Given the description of an element on the screen output the (x, y) to click on. 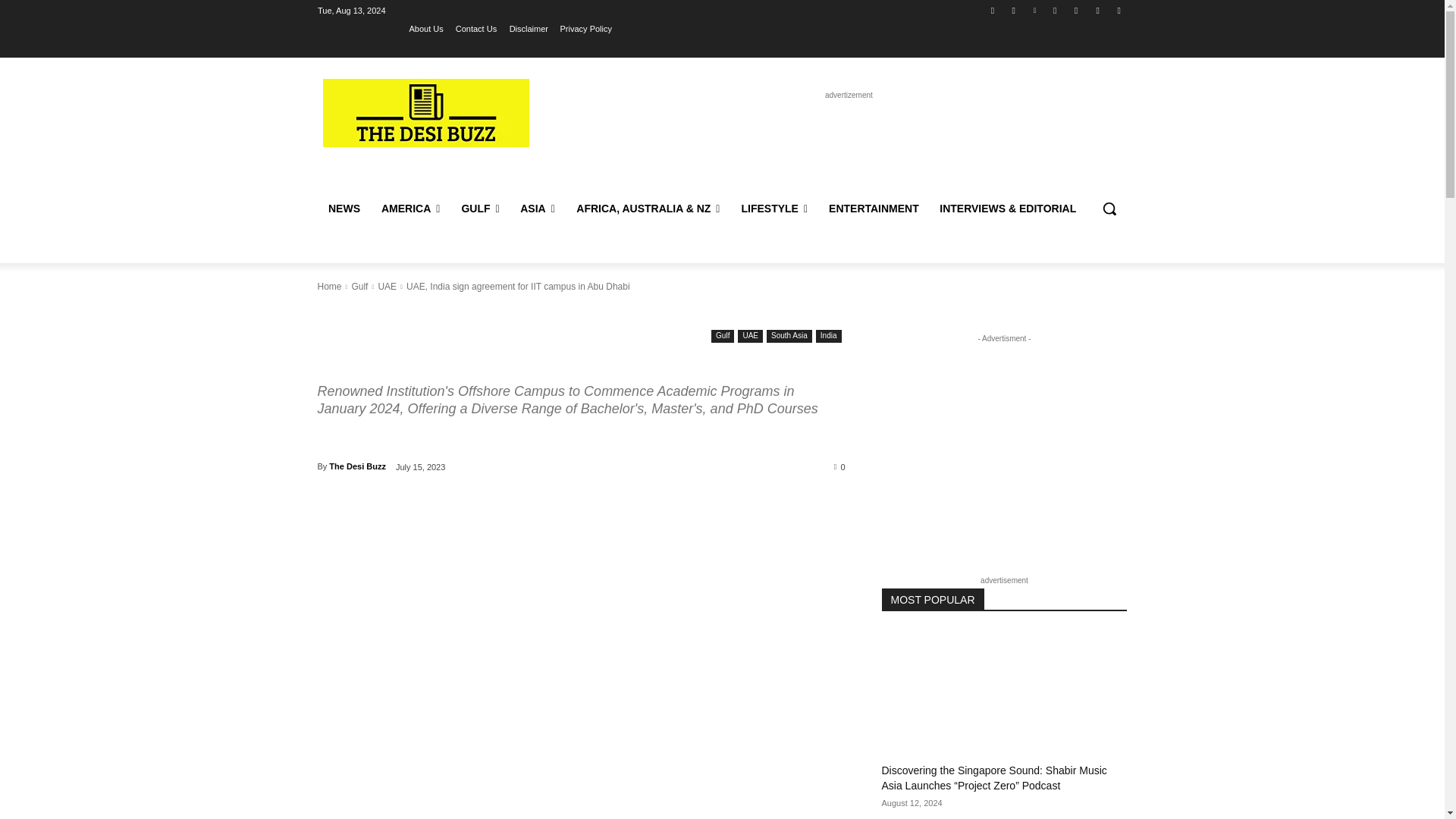
WhatsApp (1097, 9)
About Us (426, 28)
Facebook (992, 9)
Linkedin (1034, 9)
Instagram (1013, 9)
Privacy Policy (585, 28)
Contact Us (475, 28)
Twitter (1075, 9)
Disclaimer (528, 28)
Mail (1055, 9)
